Given the description of an element on the screen output the (x, y) to click on. 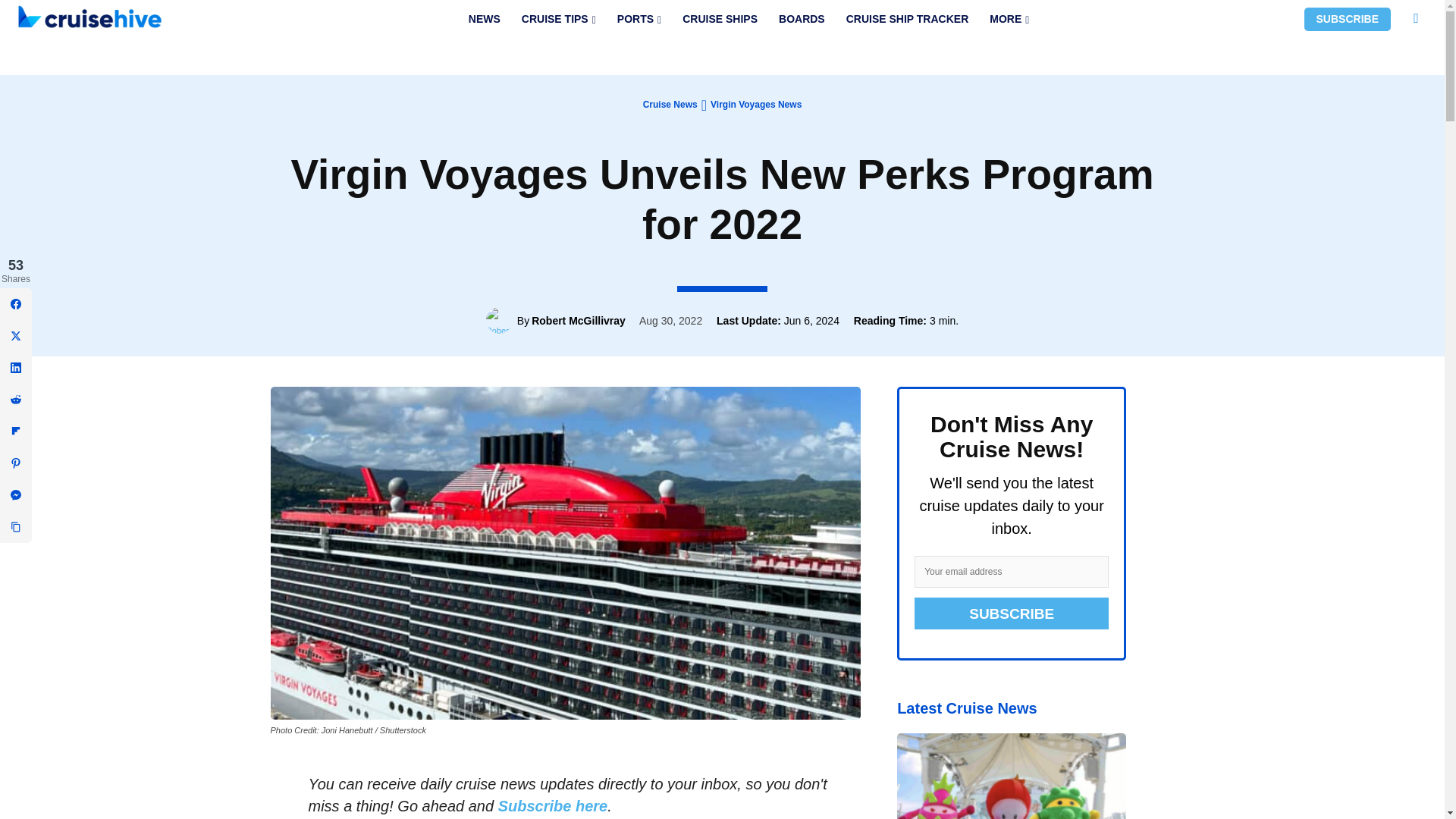
CRUISE TIPS (559, 19)
PORTS (639, 19)
Robert McGillivray (501, 320)
SUBSCRIBE (1347, 19)
View all posts in Cruise News (670, 104)
NEWS (484, 19)
Resorts World Cruises Launches Exclusive Durian Party (1010, 776)
View all posts in Virgin Voyages News (756, 104)
